Given the description of an element on the screen output the (x, y) to click on. 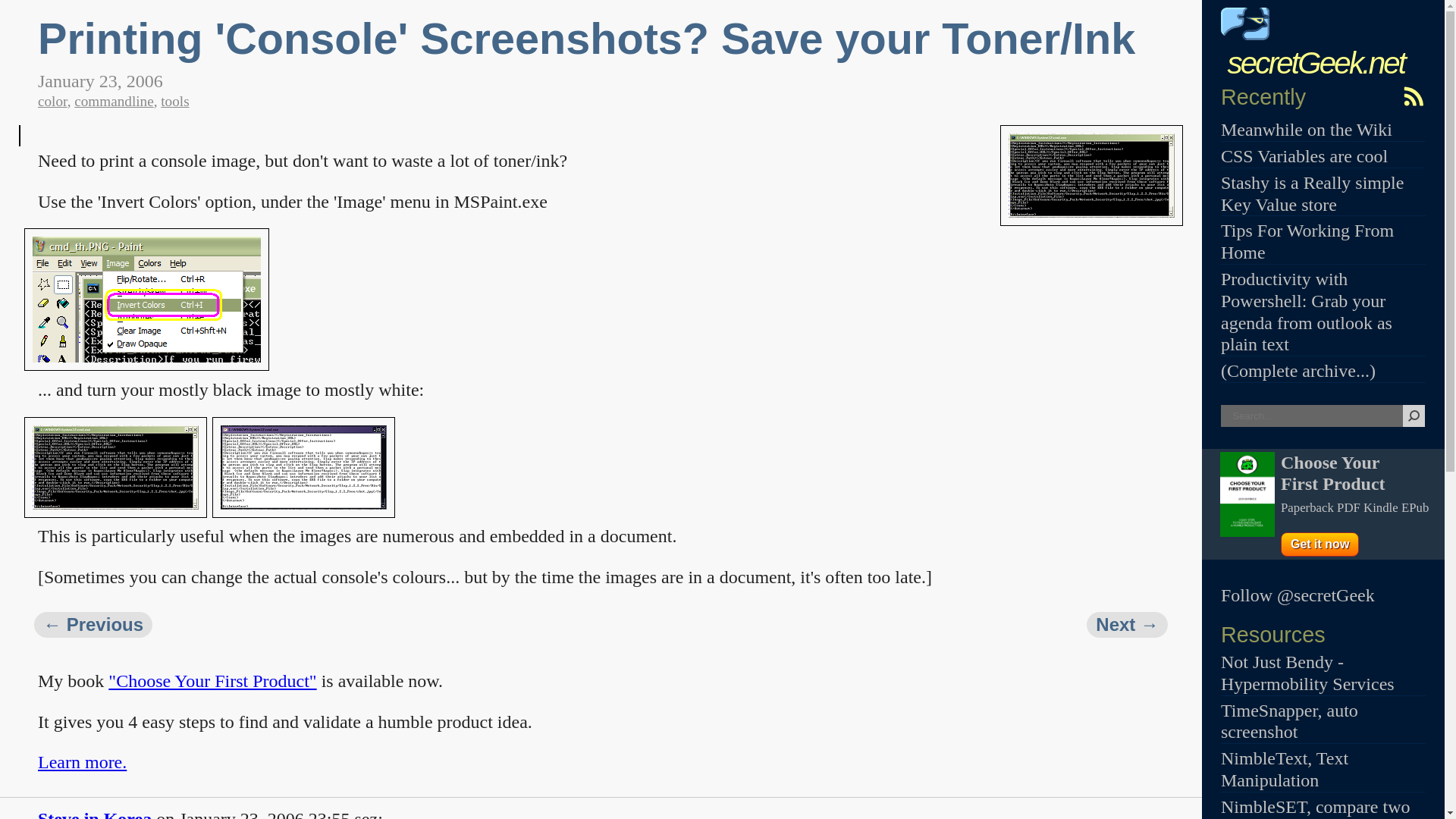
NimbleText, Text Manipulation (1284, 769)
 secretGeek.net (1313, 46)
rss feed (1412, 96)
color (51, 100)
Tips For Working From Home (1307, 241)
TimeSnapper, auto screenshot (1289, 721)
CSS Variables are cool (1304, 156)
Text Manipulation, Code Generation, Data Extraction (1284, 769)
Not Just Bendy - Hypermobility Services (1307, 672)
commandline (113, 100)
The Venn Diagram Comparison Tool (1315, 807)
Launch the Code Editor on startup (1126, 624)
tools (174, 100)
Stashy is a Really simple Key Value store (1312, 193)
